Given the description of an element on the screen output the (x, y) to click on. 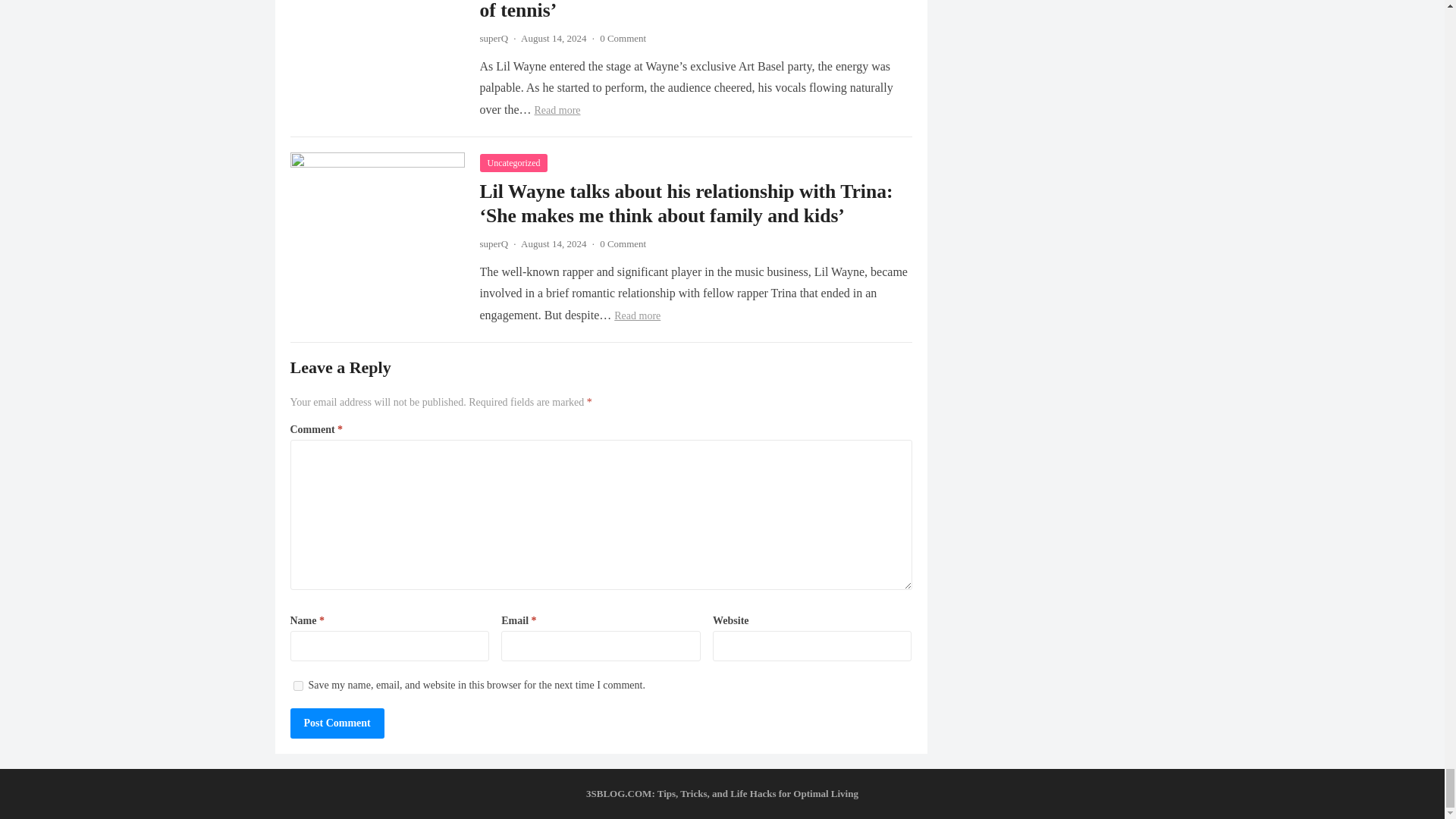
yes (297, 685)
Posts by superQ (493, 38)
Post Comment (336, 723)
Posts by superQ (493, 243)
